Given the description of an element on the screen output the (x, y) to click on. 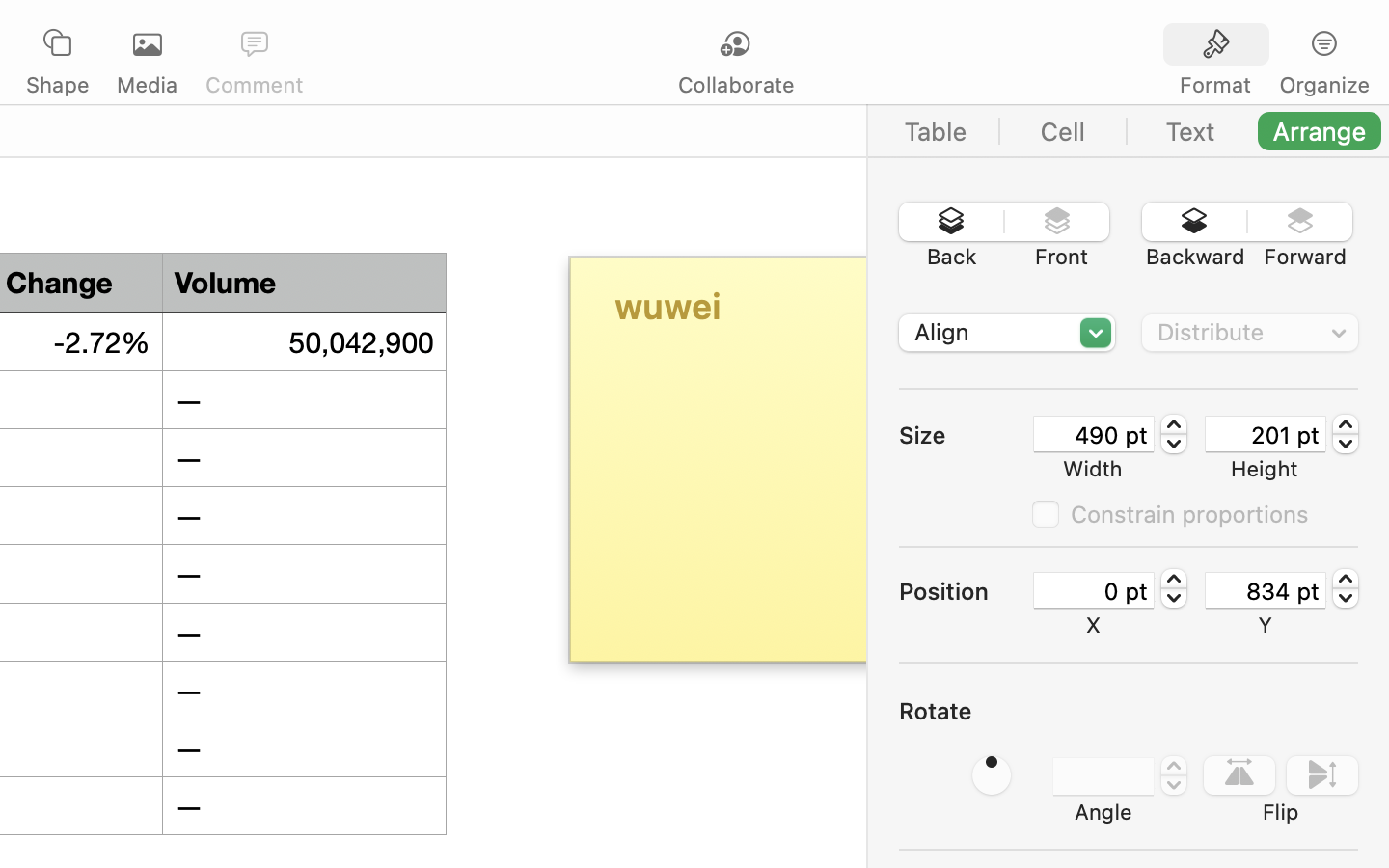
Height Element type: AXStaticText (1264, 468)
834.2460000753404 Element type: AXIncrementor (1345, 588)
490 pt Element type: AXTextField (1093, 433)
Organize Element type: AXStaticText (1323, 84)
Width Element type: AXStaticText (1092, 468)
